Given the description of an element on the screen output the (x, y) to click on. 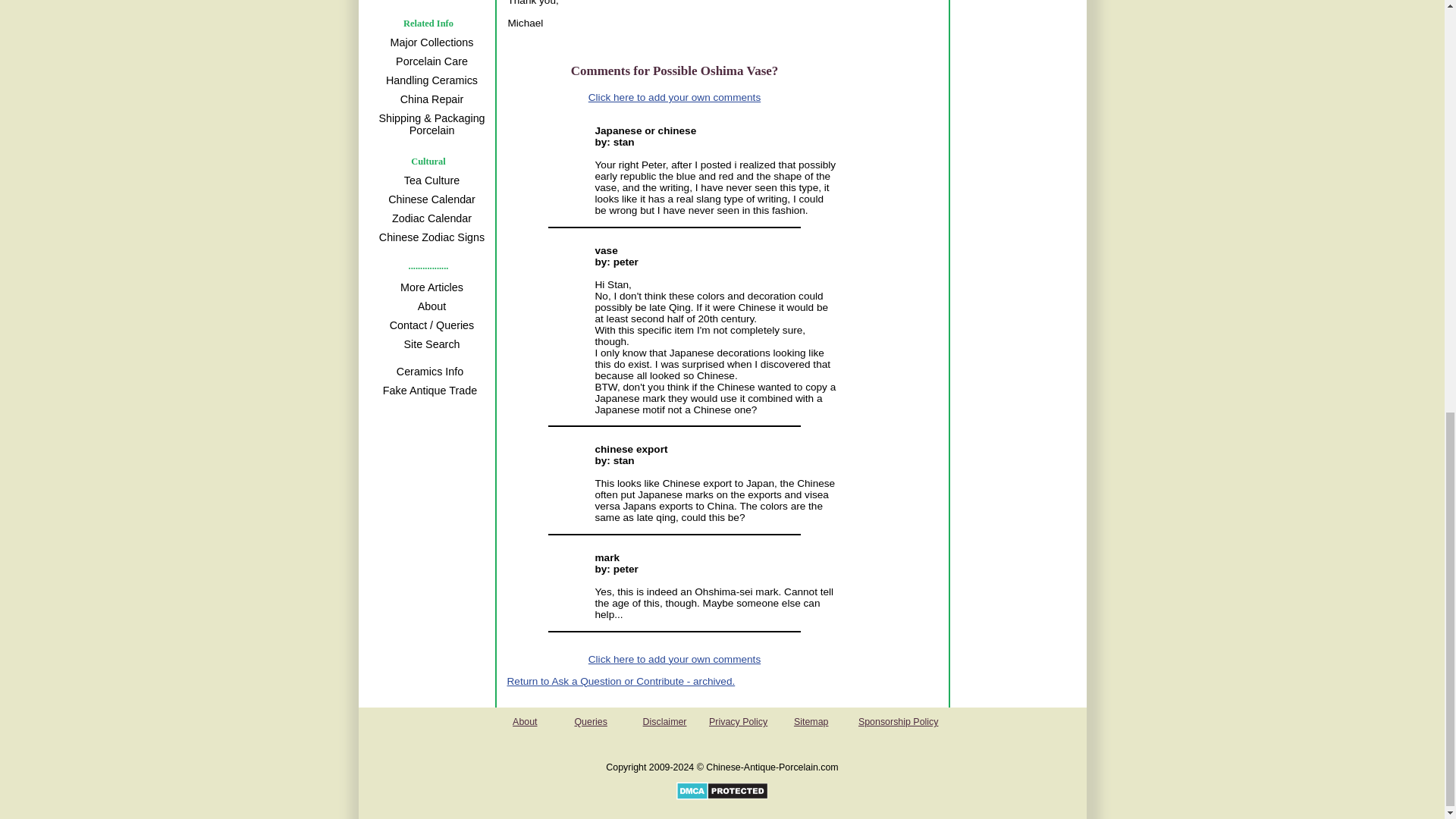
Tea Culture (429, 180)
Porcelain Care (429, 61)
DMCA (722, 796)
Return to Ask a Question or Contribute - archived. (620, 681)
China Repair (429, 98)
Major Collections (429, 42)
Click here to add your own comments (674, 97)
Handling Ceramics (429, 80)
Click here to add your own comments (674, 659)
